Given the description of an element on the screen output the (x, y) to click on. 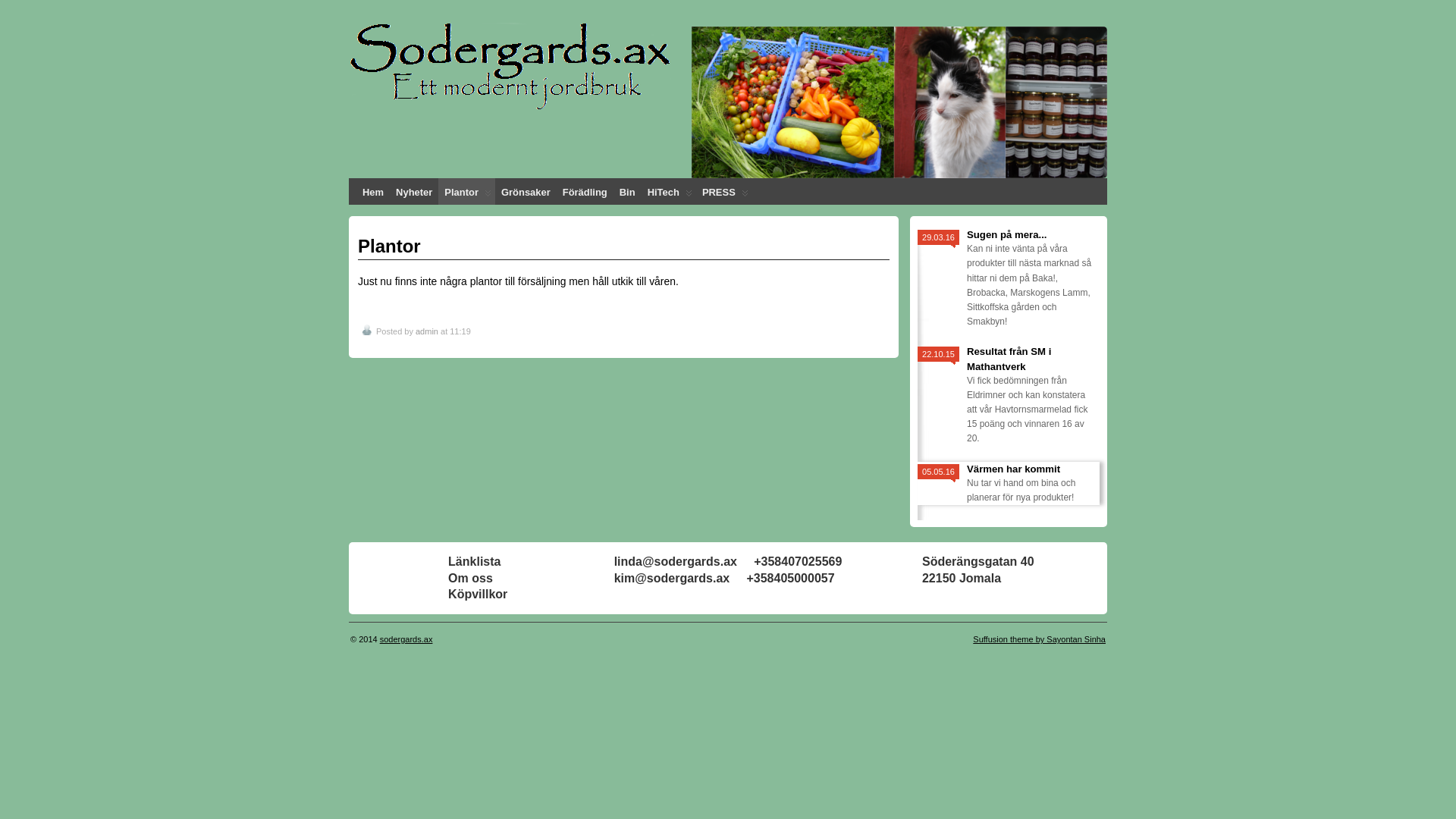
Nyheter Element type: text (413, 191)
Suffusion theme by Sayontan Sinha Element type: text (1038, 638)
 HiTech Element type: text (668, 191)
linda@sodergards.ax Element type: text (675, 561)
Bin Element type: text (627, 191)
 Plantor Element type: text (466, 191)
Hem Element type: text (372, 191)
sodergards.ax Element type: text (406, 638)
sodergards.ax Element type: text (444, 51)
Om oss Element type: text (470, 577)
admin Element type: text (426, 330)
 PRESS Element type: text (724, 191)
kim@sodergards.ax Element type: text (672, 577)
